Given the description of an element on the screen output the (x, y) to click on. 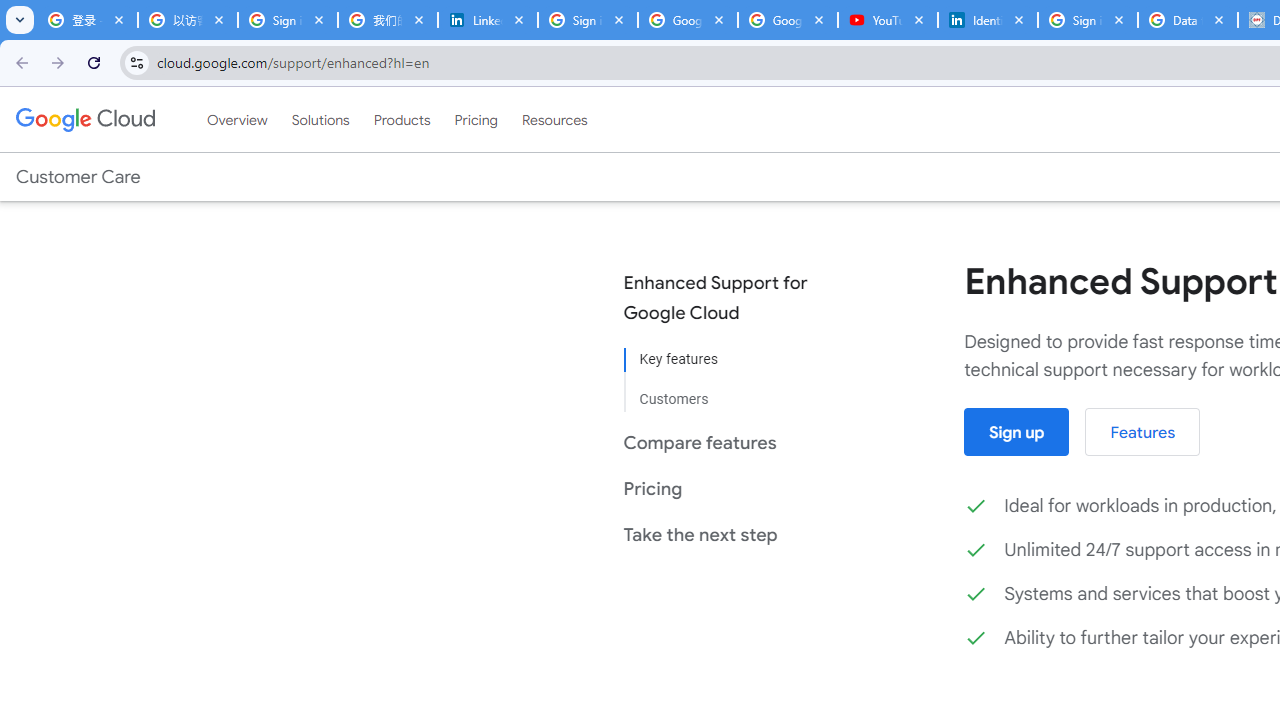
Pricing (476, 119)
